Given the description of an element on the screen output the (x, y) to click on. 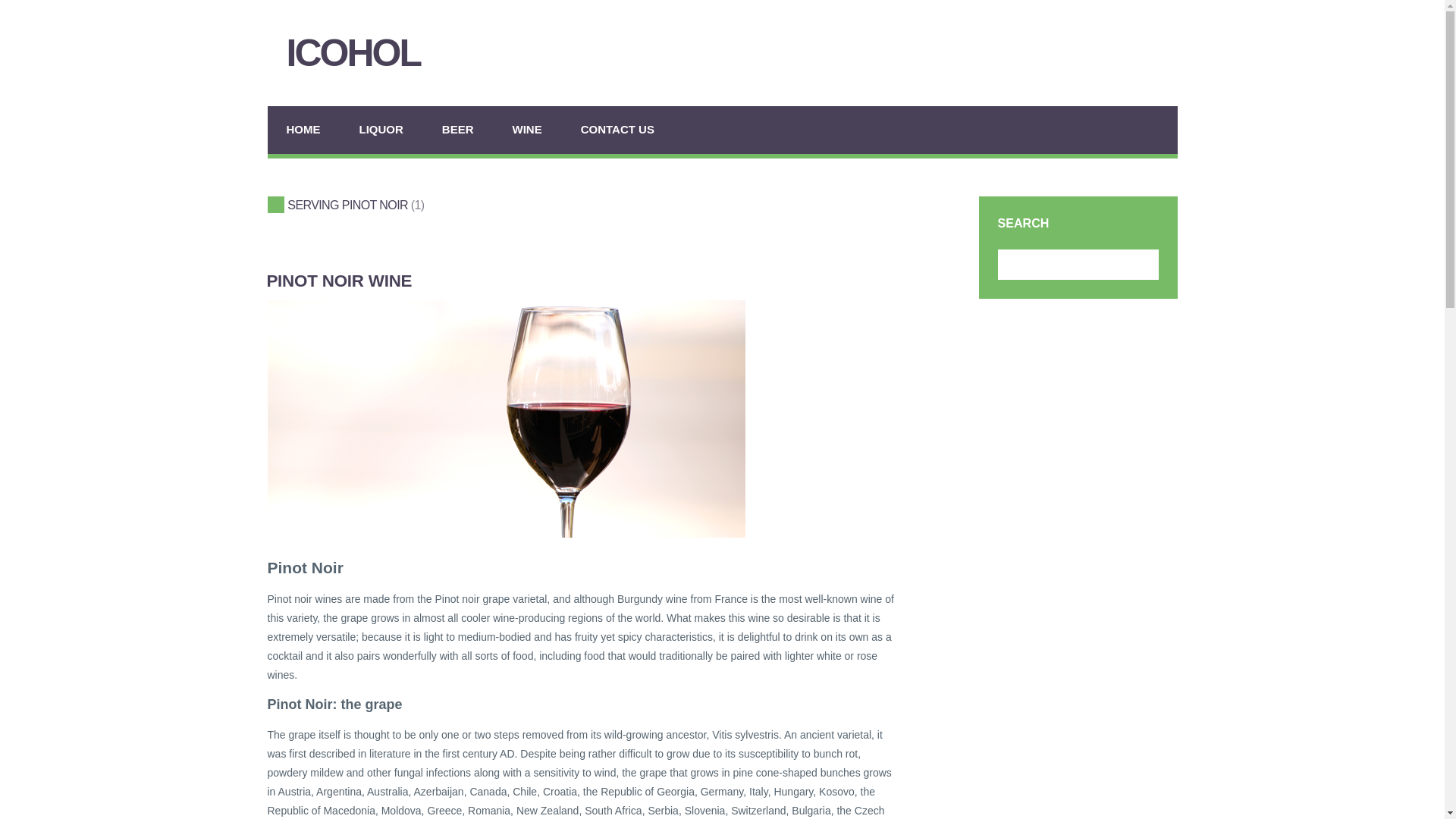
Search (1141, 264)
ICOHOL (385, 53)
HOME (302, 129)
PINOT NOIR WINE (339, 280)
BEER (458, 129)
CONTACT US (618, 129)
WINE (527, 129)
LIQUOR (380, 129)
Search (1141, 264)
